Given the description of an element on the screen output the (x, y) to click on. 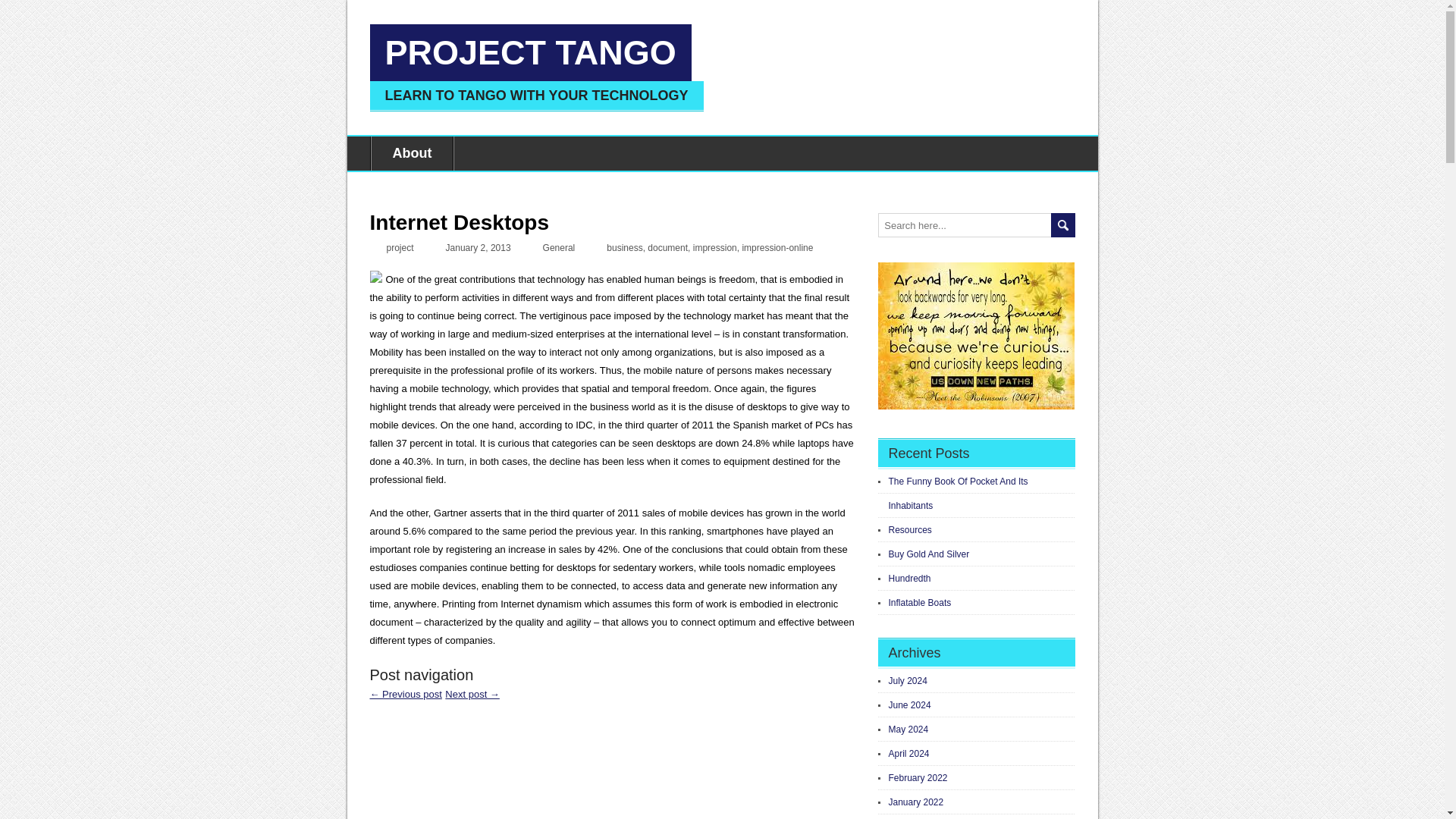
About (410, 153)
Buy Gold And Silver (928, 553)
project (400, 247)
PROJECT TANGO (531, 52)
The Funny Book Of Pocket And Its Inhabitants (957, 493)
April 2024 (909, 753)
business (624, 247)
Inflatable Boats (920, 602)
June 2024 (909, 705)
Posts by project (400, 247)
Tuesday Tango (472, 694)
July 2024 (907, 680)
Distrito Federal (405, 694)
Resources (909, 529)
General (559, 247)
